Given the description of an element on the screen output the (x, y) to click on. 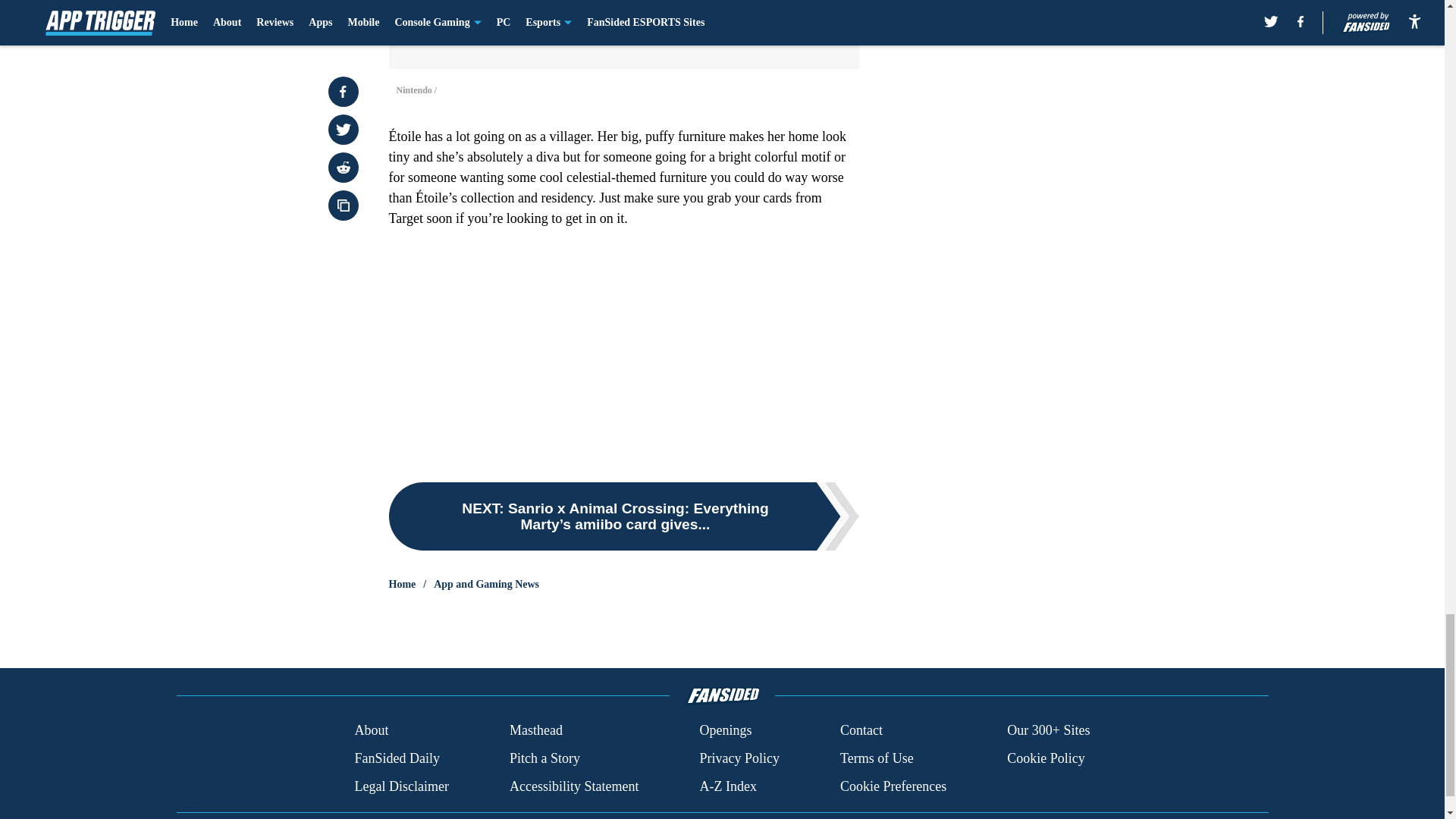
App and Gaming News (485, 584)
Contact (861, 730)
Openings (724, 730)
Masthead (535, 730)
Home (401, 584)
About (370, 730)
